Given the description of an element on the screen output the (x, y) to click on. 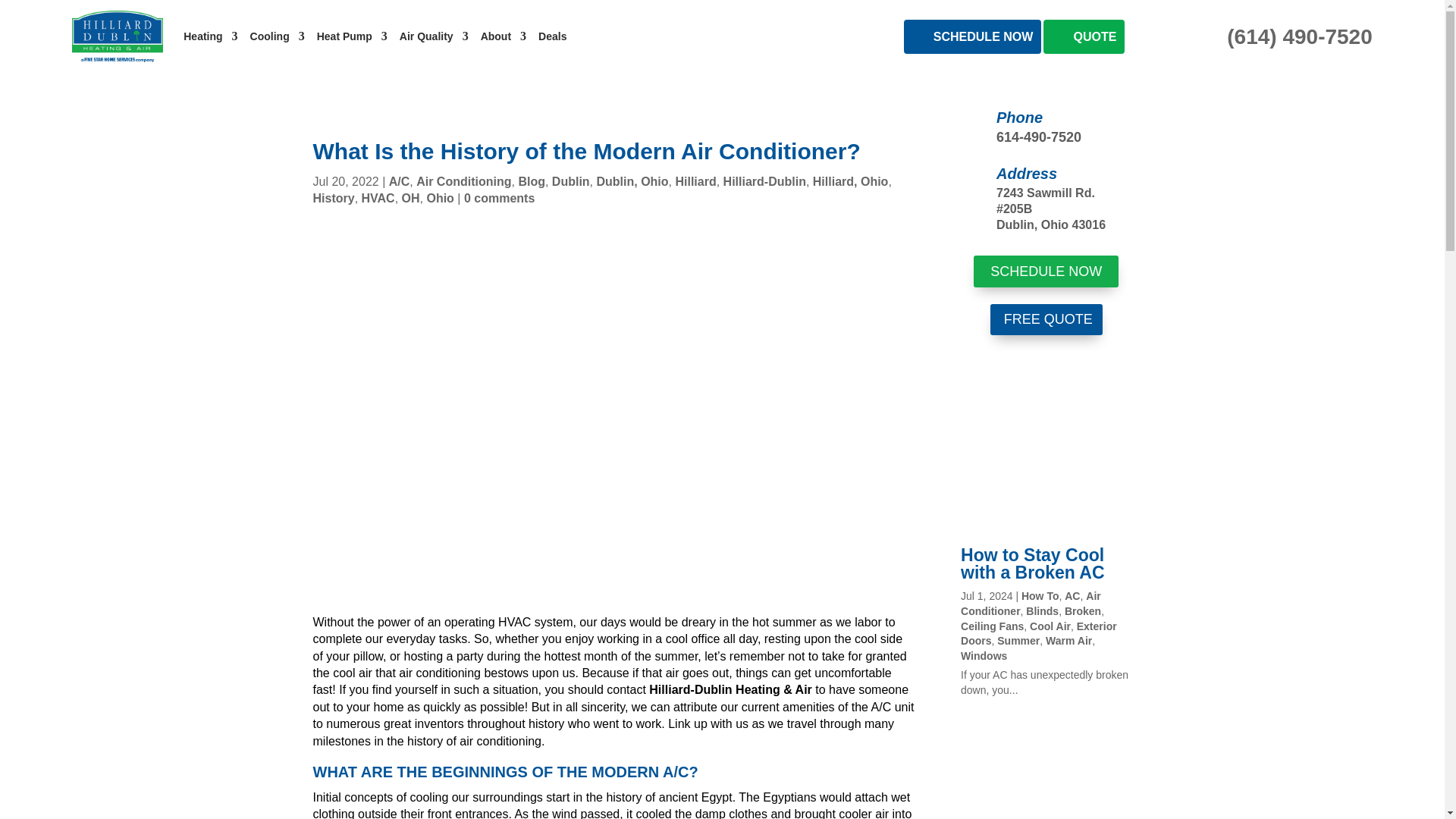
Cooling (277, 36)
Air Conditioning (463, 181)
Heating (210, 36)
Hilliard, Ohio (850, 181)
Hilliard (695, 181)
Dublin (570, 181)
Dublin, Ohio (631, 181)
Blog (531, 181)
Hilliard-Dublin (764, 181)
Heat Pump (352, 36)
